Given the description of an element on the screen output the (x, y) to click on. 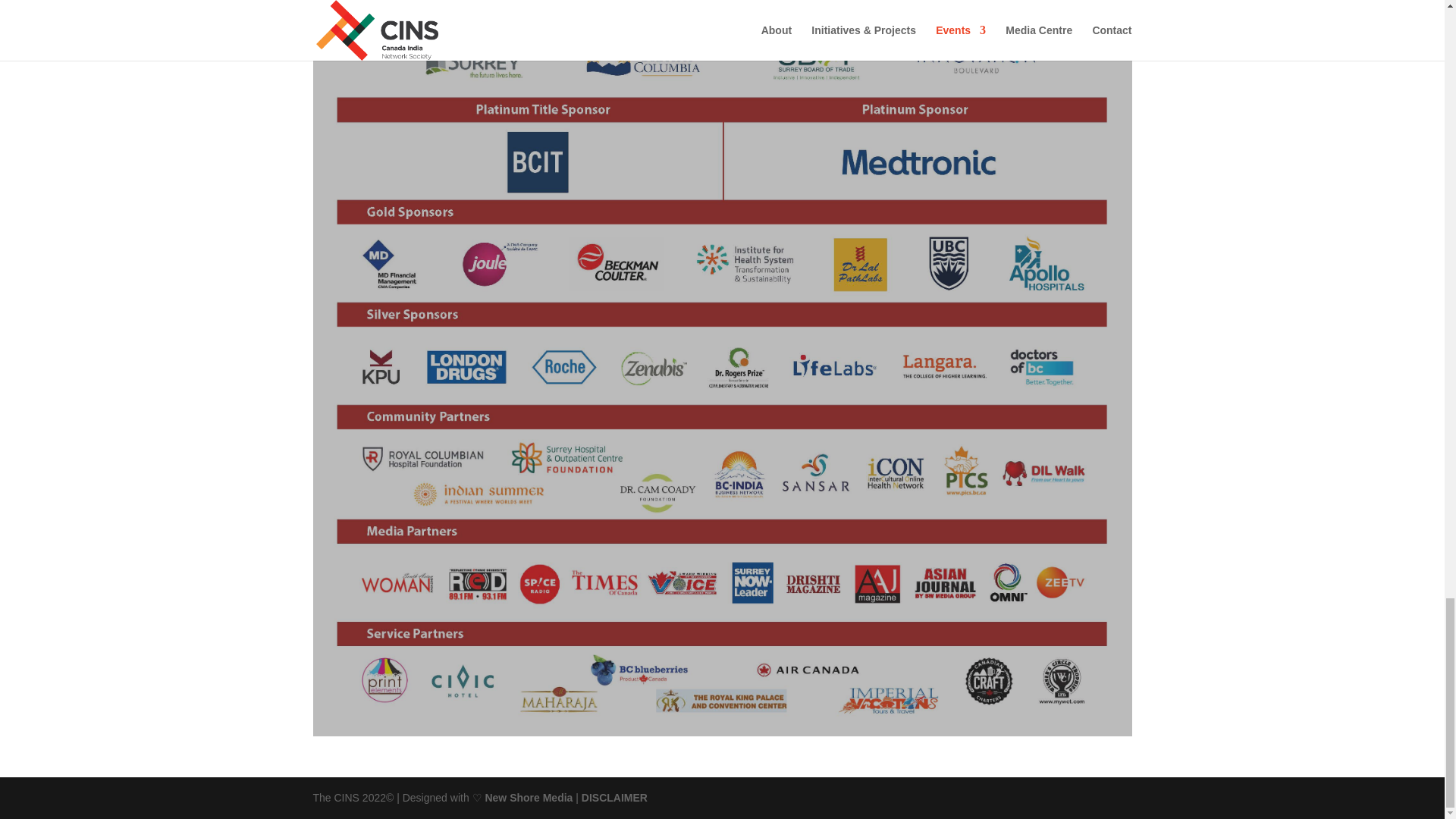
DISCLAIMER (613, 797)
New Shore Media (528, 797)
